Given the description of an element on the screen output the (x, y) to click on. 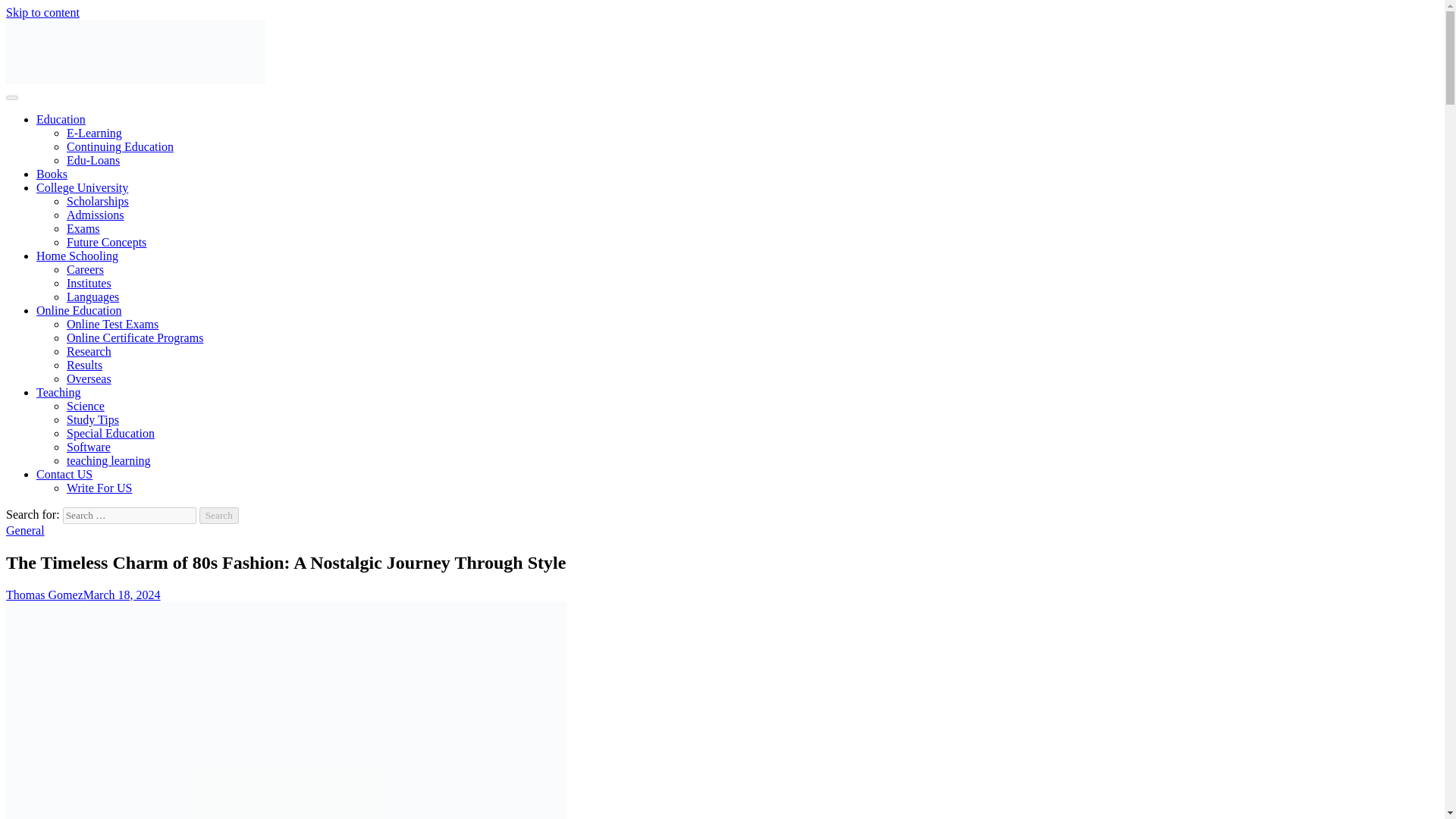
Online Education (78, 309)
Continuing Education (119, 146)
Search (218, 515)
Exams (83, 228)
Write For US (99, 487)
Search (218, 515)
Thomas Gomez (43, 594)
College University (82, 187)
Online Certificate Programs (134, 337)
Software (88, 446)
teaching learning (108, 460)
Institutes (89, 282)
Edu-Loans (92, 160)
Study Tips (92, 419)
Cite Ref (25, 105)
